Given the description of an element on the screen output the (x, y) to click on. 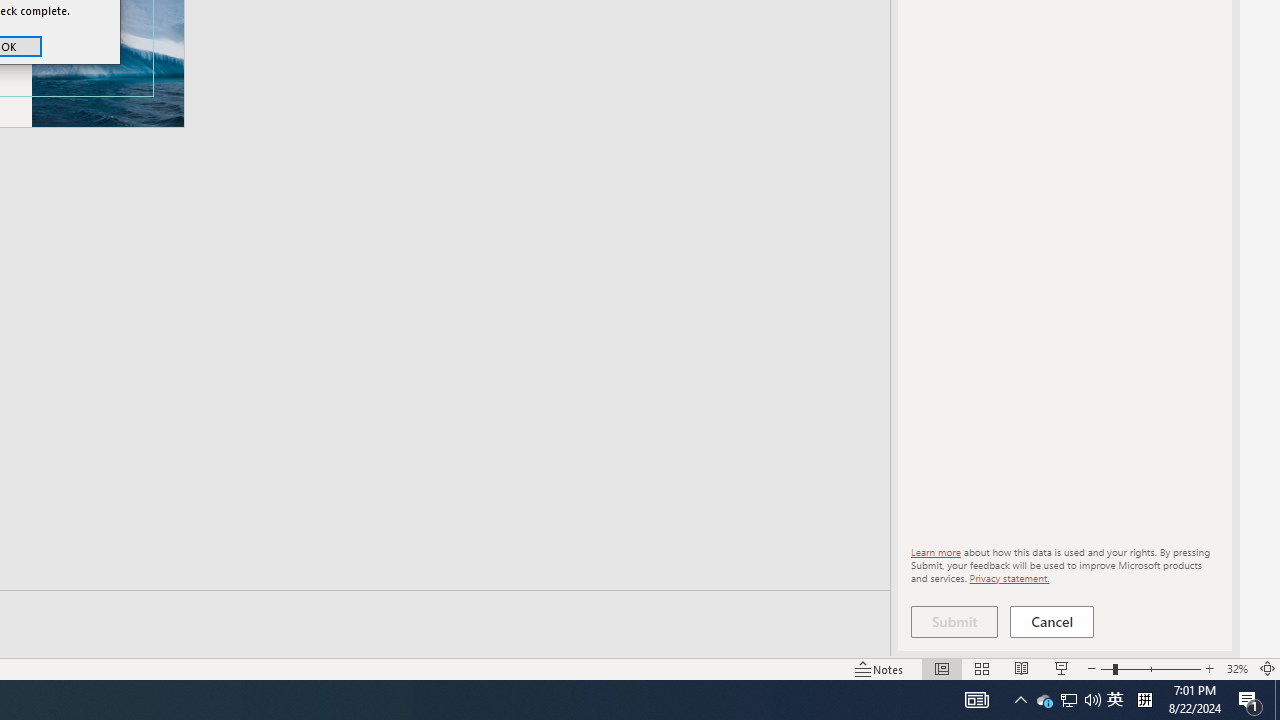
Zoom 32% (1069, 699)
Notes  (1115, 699)
Show desktop (1044, 699)
Submit (1236, 668)
